Given the description of an element on the screen output the (x, y) to click on. 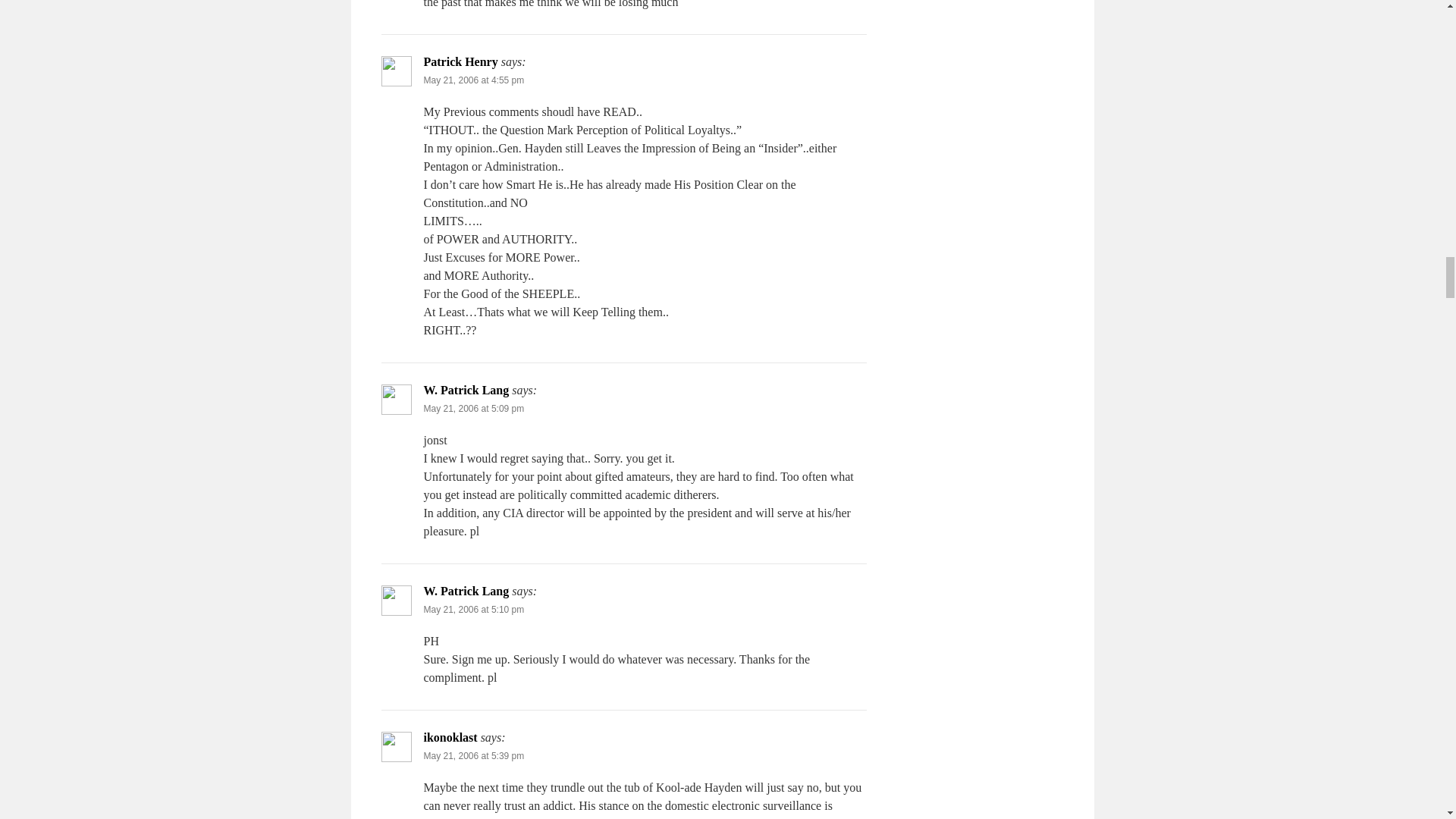
May 21, 2006 at 5:39 pm (473, 756)
May 21, 2006 at 5:09 pm (473, 408)
May 21, 2006 at 4:55 pm (473, 80)
May 21, 2006 at 5:10 pm (473, 609)
